Given the description of an element on the screen output the (x, y) to click on. 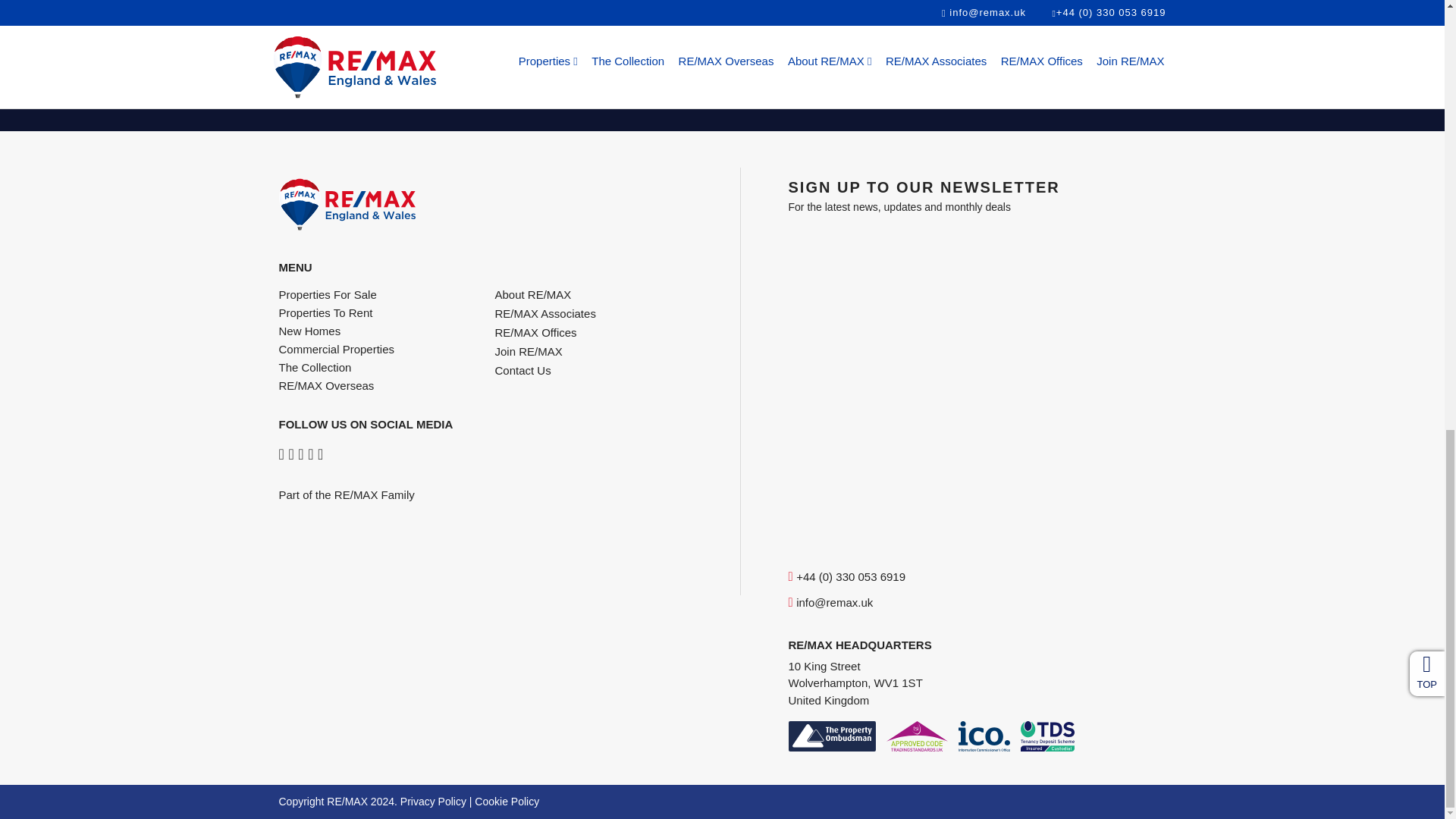
Form 0 (977, 383)
